Given the description of an element on the screen output the (x, y) to click on. 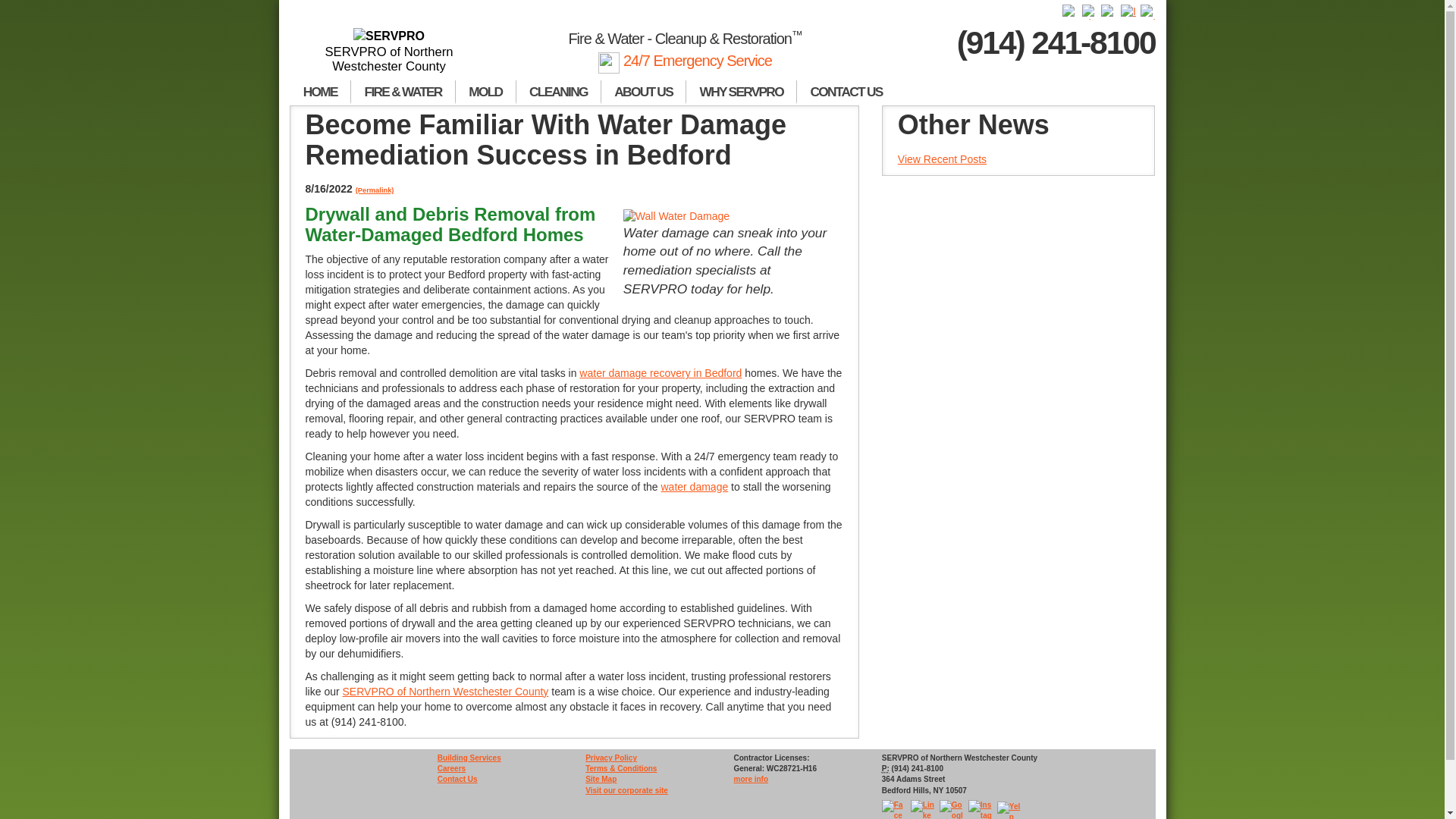
SERVPRO of Northern Westchester County (389, 51)
MOLD (485, 92)
ABOUT US (643, 92)
CLEANING (558, 92)
HOME (319, 92)
